Given the description of an element on the screen output the (x, y) to click on. 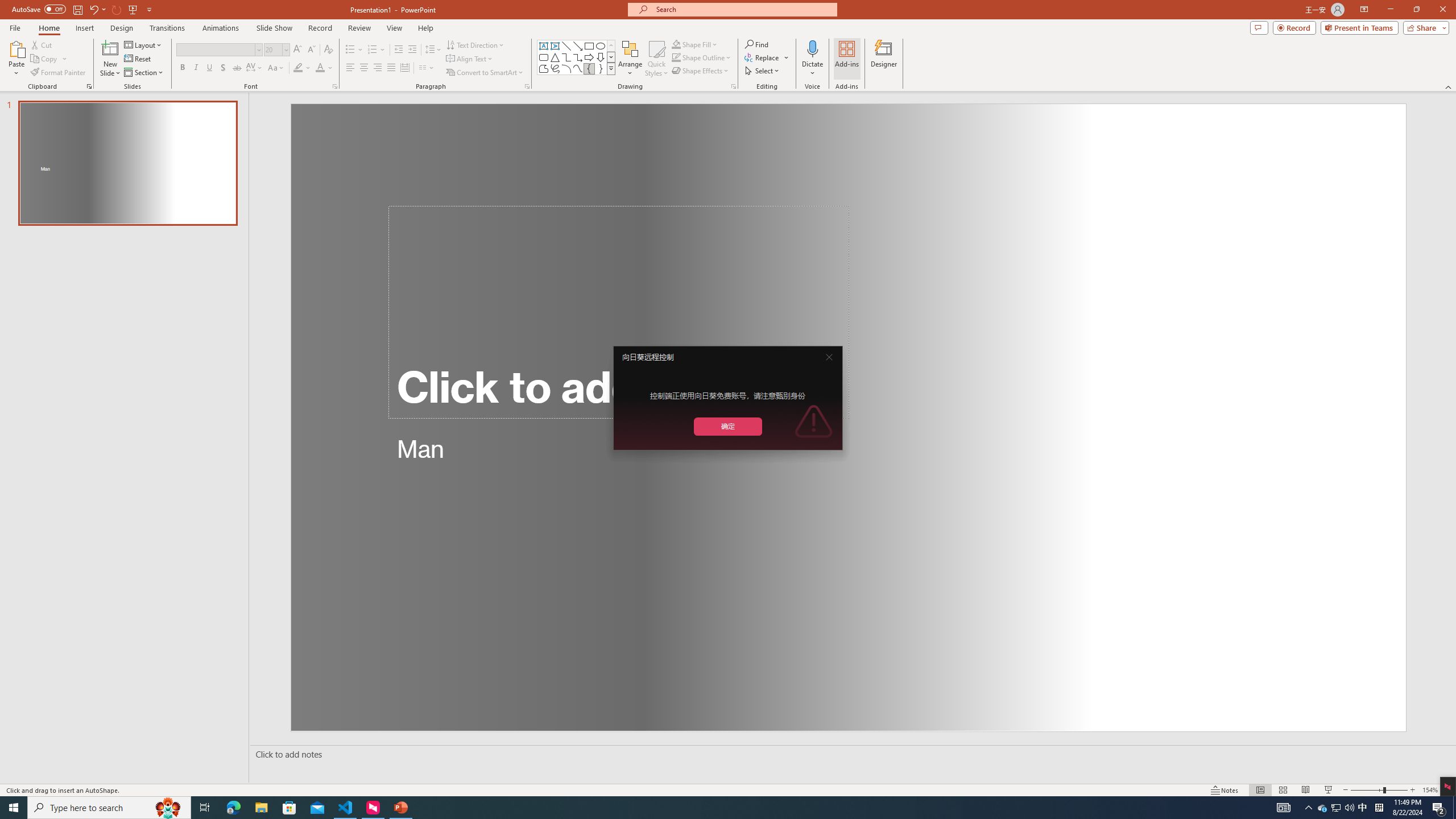
Shape Outline Blue, Accent 1 (675, 56)
